Given the description of an element on the screen output the (x, y) to click on. 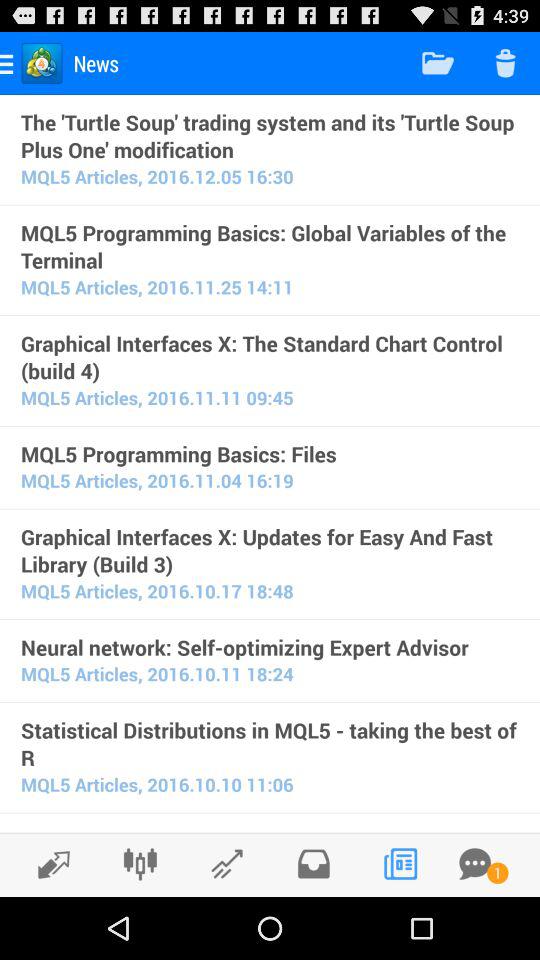
view messages (475, 864)
